Given the description of an element on the screen output the (x, y) to click on. 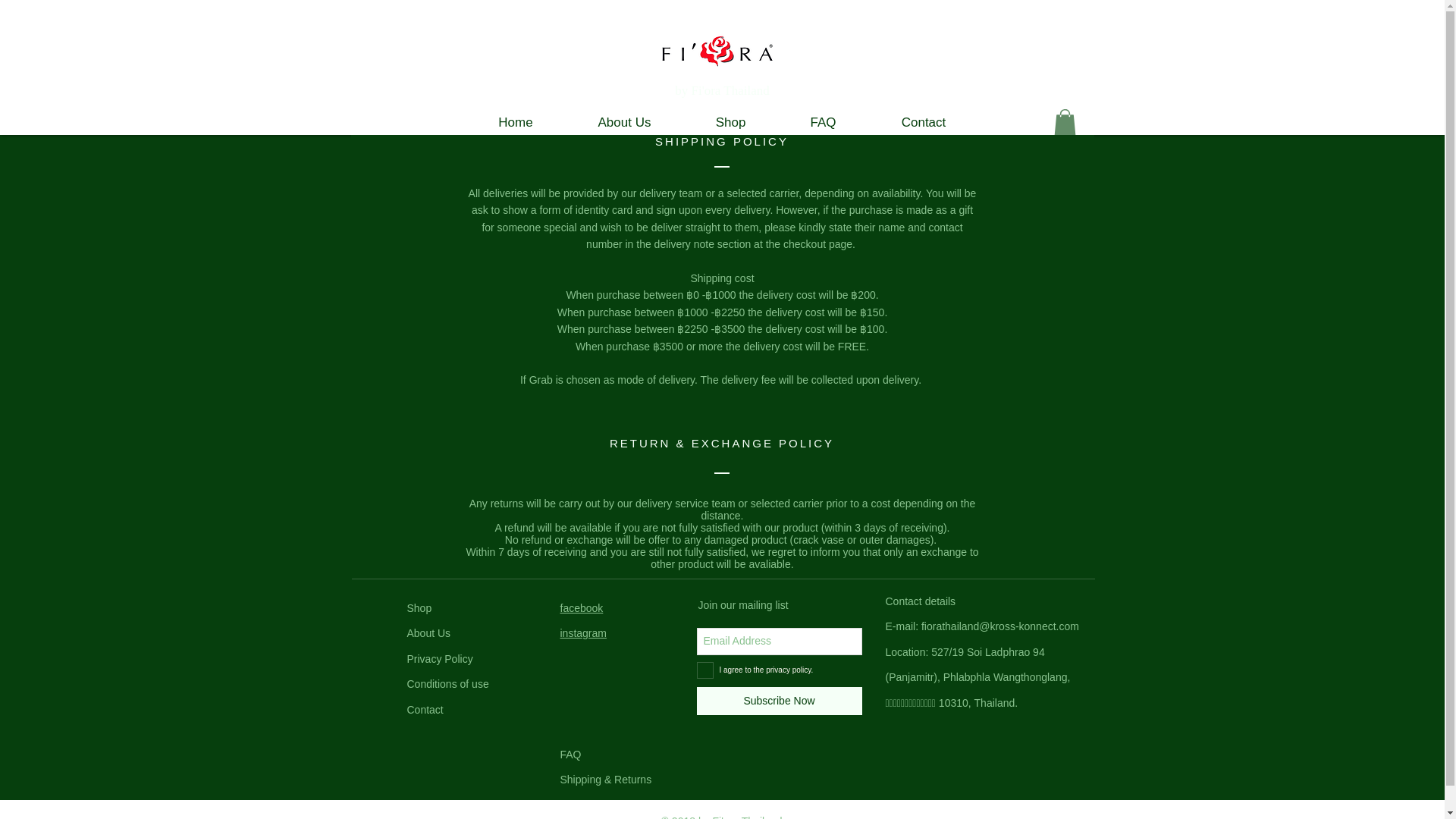
instagram (582, 633)
About Us (625, 122)
Shop (418, 607)
facebook (580, 607)
Contact (424, 709)
FAQ (823, 122)
Contact details (920, 601)
About Us (427, 633)
Shop (730, 122)
Home (514, 122)
Contact (923, 122)
Privacy Policy (438, 658)
Conditions of use (446, 684)
by Fi'ora Thailand (722, 90)
Subscribe Now (778, 700)
